Given the description of an element on the screen output the (x, y) to click on. 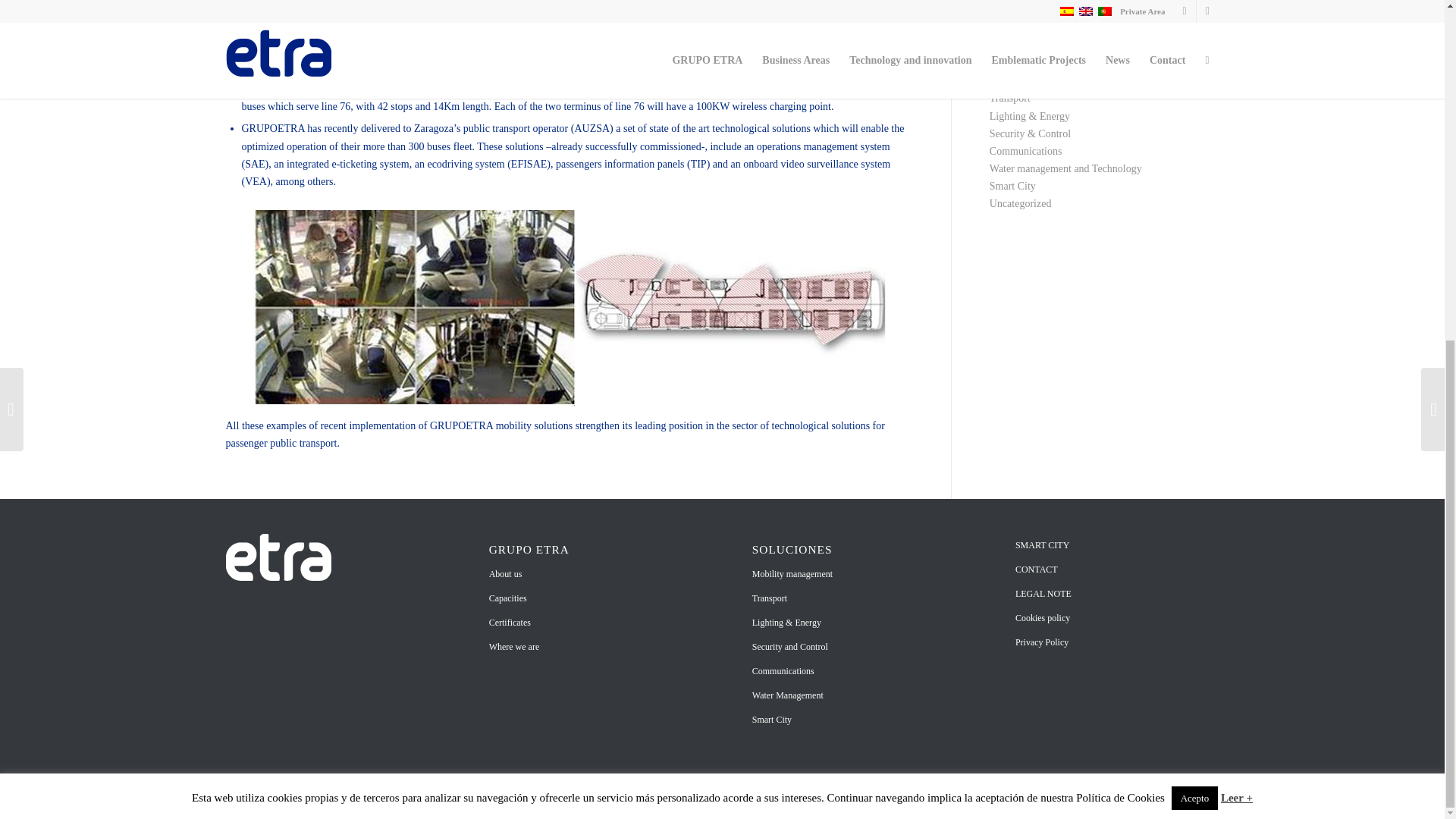
Linkedin (1184, 796)
Transporte 02 (568, 35)
Present (1005, 62)
Mobility management (1036, 80)
Transporte 01 (568, 307)
